Given the description of an element on the screen output the (x, y) to click on. 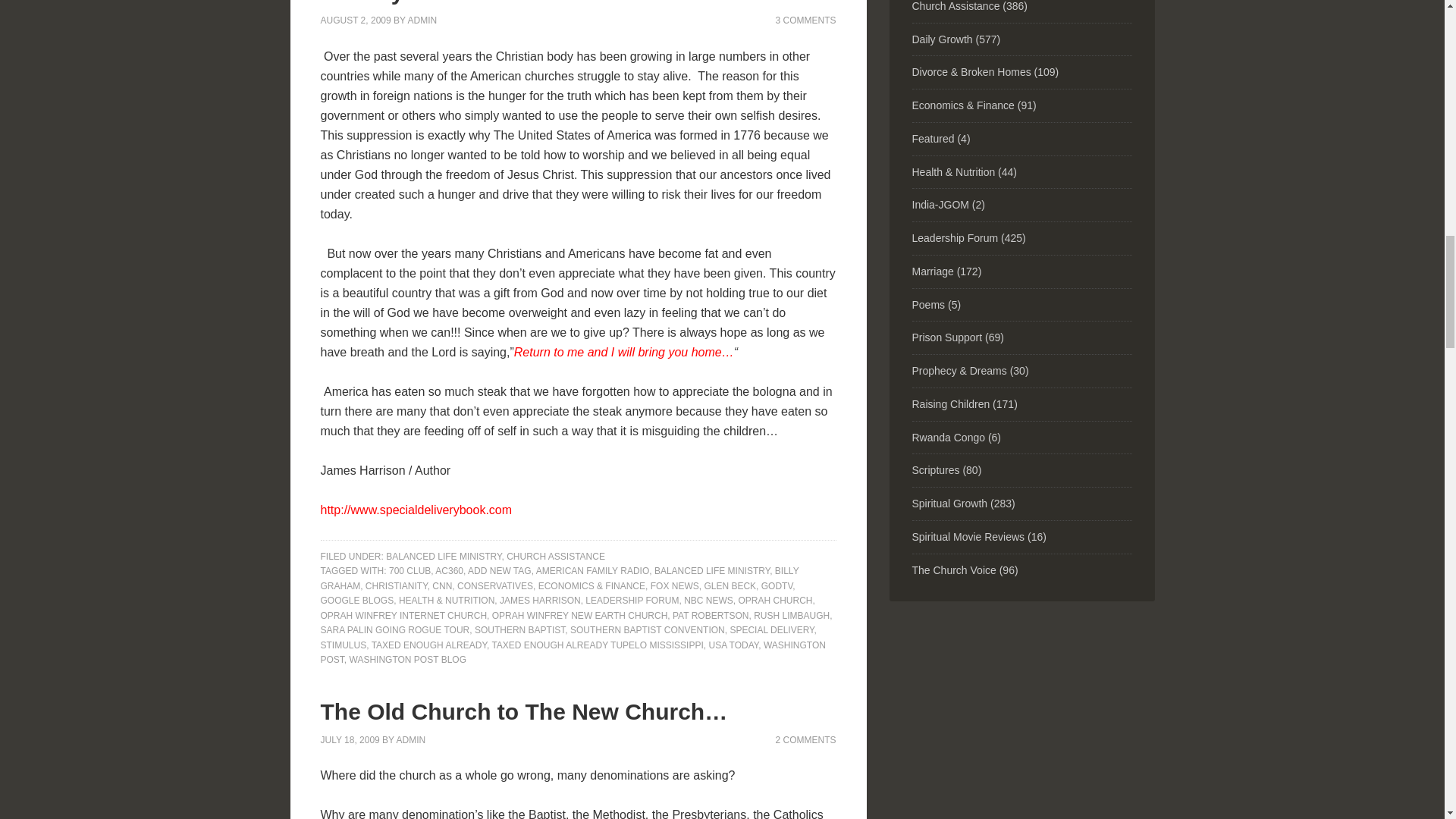
Daily Bible Scriptures (935, 469)
